Given the description of an element on the screen output the (x, y) to click on. 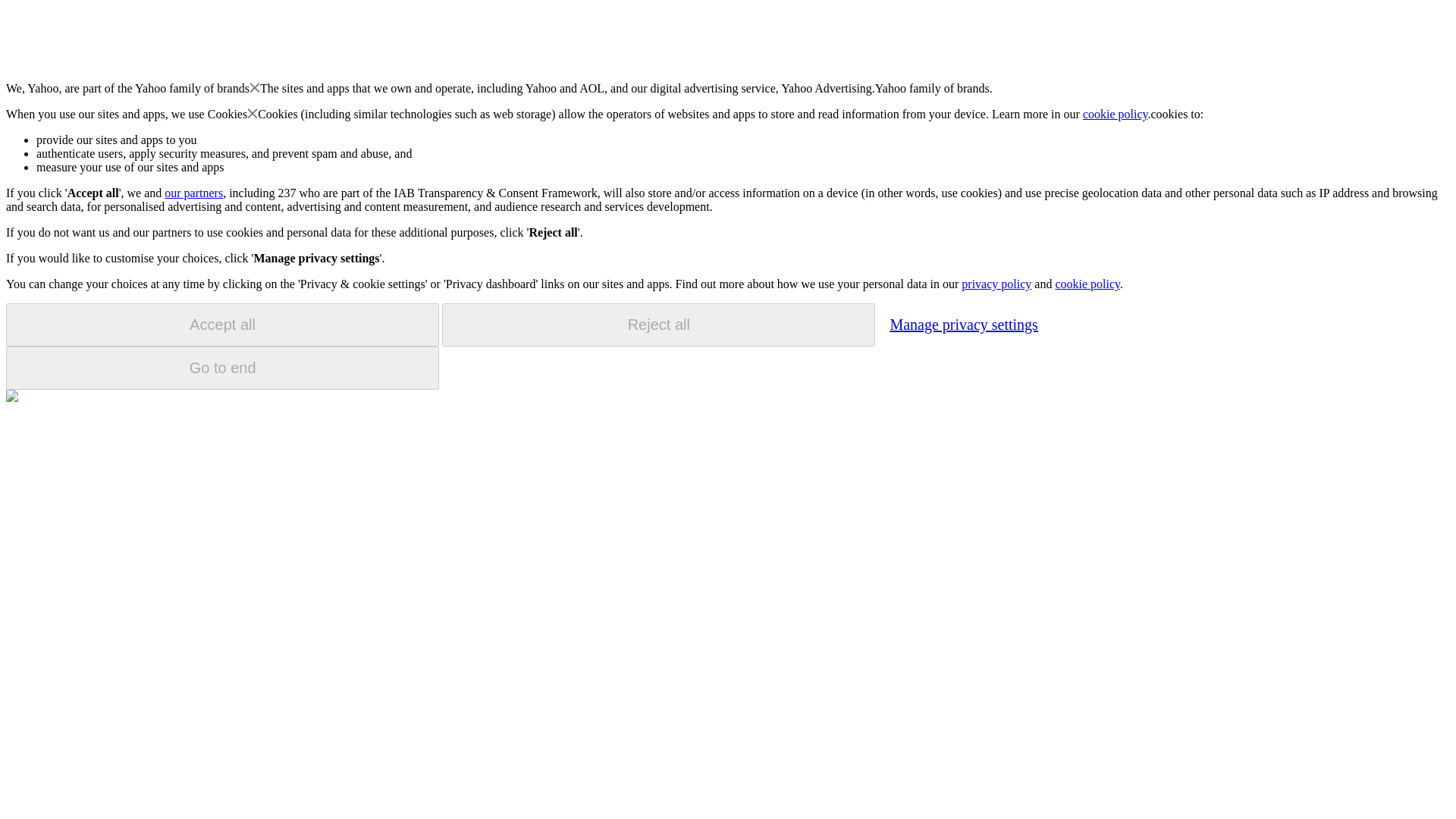
our partners (193, 192)
Reject all (658, 324)
privacy policy (995, 283)
Manage privacy settings (963, 323)
Go to end (222, 367)
Accept all (222, 324)
cookie policy (1115, 113)
cookie policy (1086, 283)
